Given the description of an element on the screen output the (x, y) to click on. 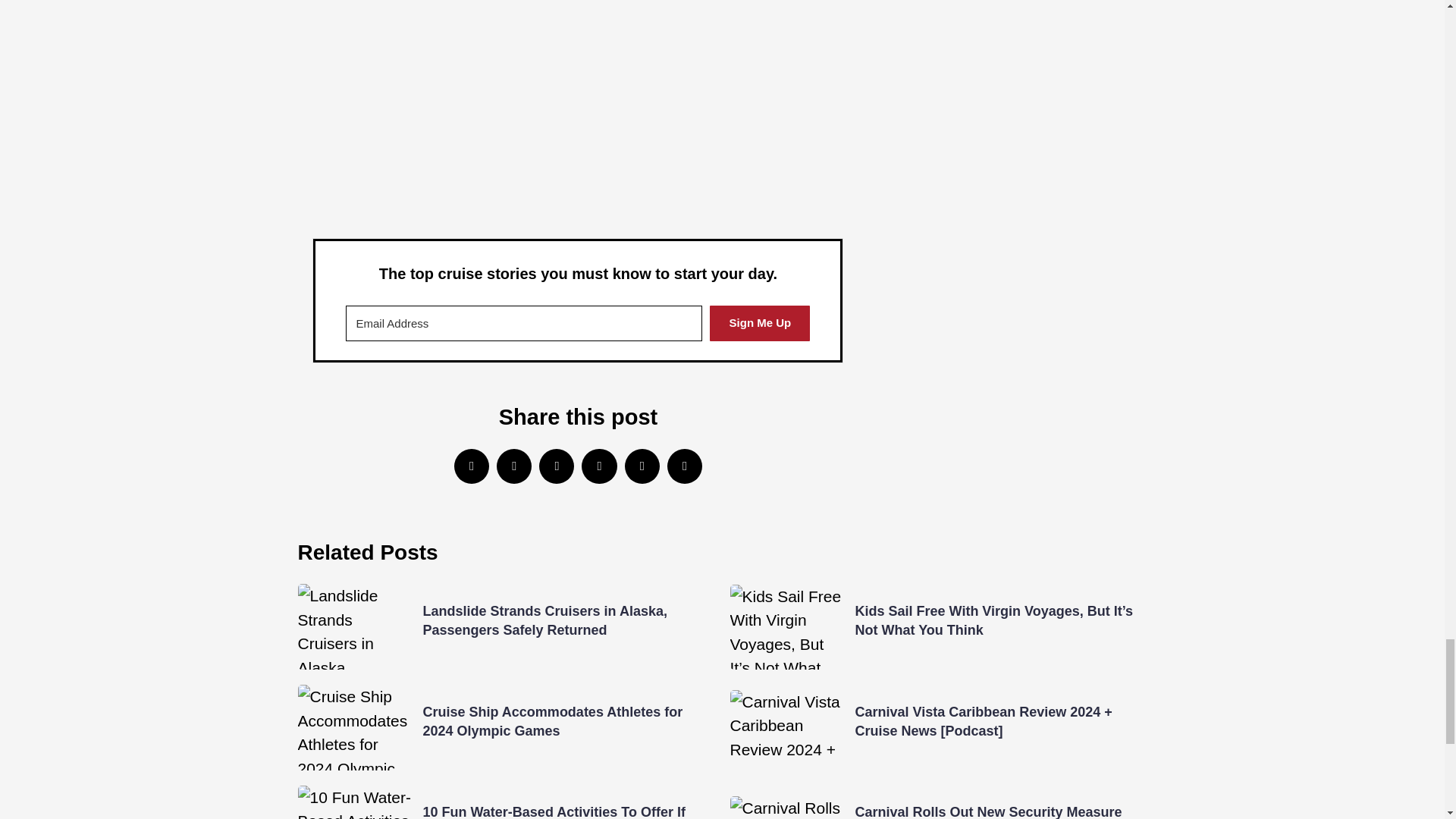
Cruise Ship Accommodates Athletes for 2024 Olympic Games (552, 721)
